Given the description of an element on the screen output the (x, y) to click on. 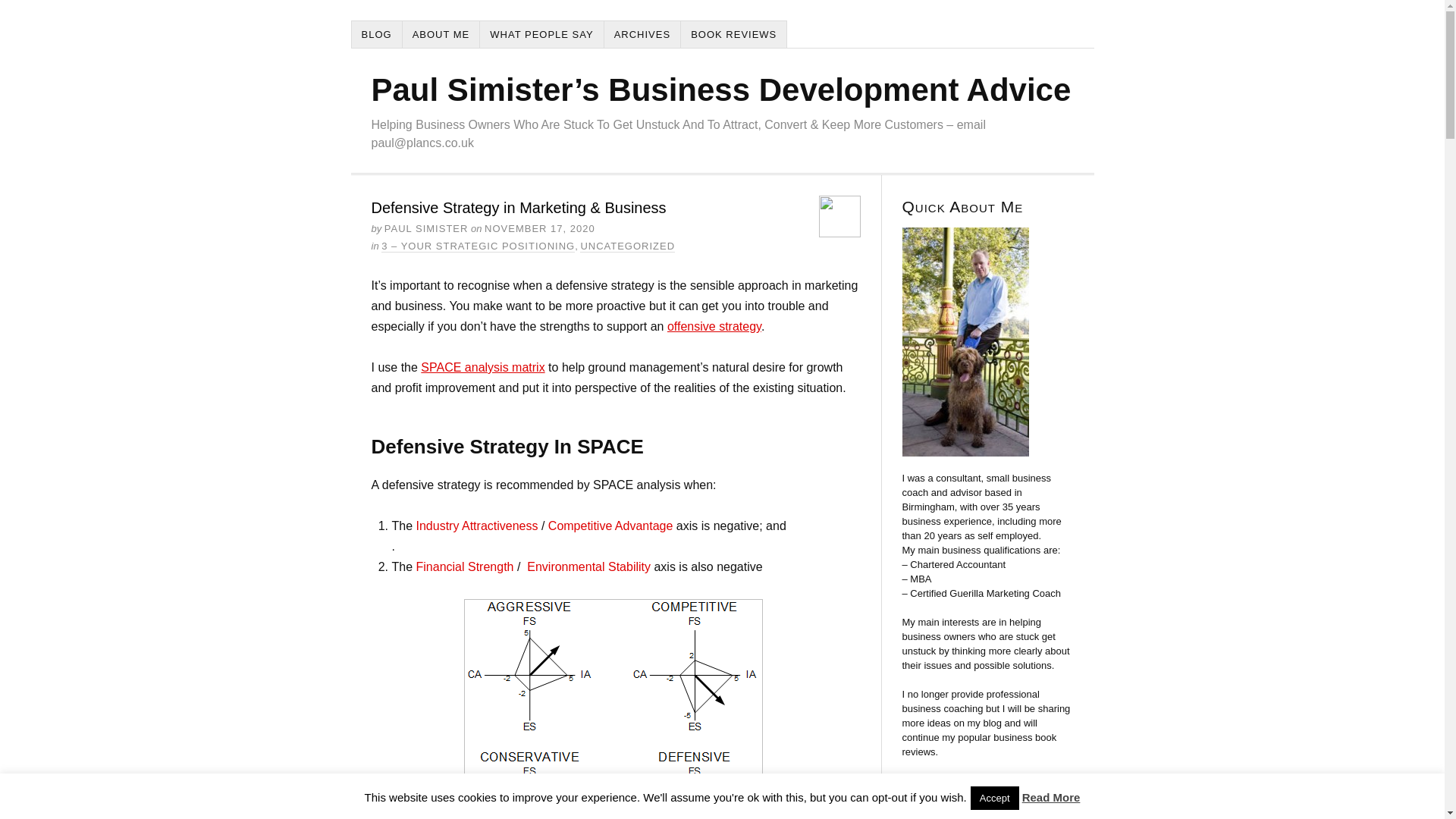
UNCATEGORIZED (627, 246)
ABOUT ME (441, 34)
SPACE analysis matrix (482, 367)
2020-11-17 (539, 228)
WHAT PEOPLE SAY (542, 34)
BLOG (377, 34)
BOOK REVIEWS (734, 34)
Industry Attractiveness (477, 525)
Financial Strength (464, 566)
ARCHIVES (642, 34)
